Given the description of an element on the screen output the (x, y) to click on. 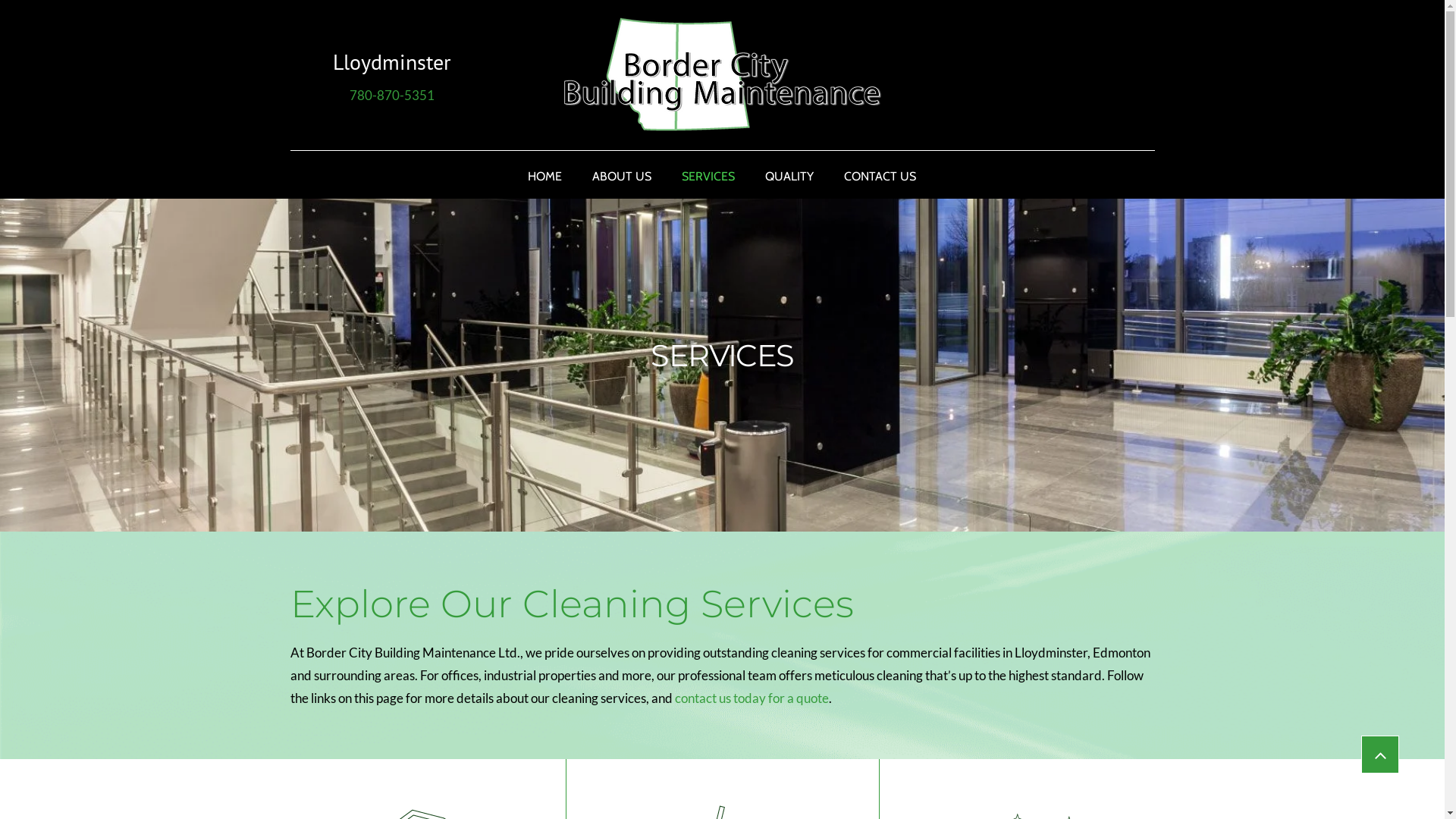
contact us today for a quote Element type: text (751, 700)
SERVICES Element type: text (707, 175)
780-870-5351 Element type: text (390, 97)
QUALITY Element type: text (788, 175)
CONTACT US Element type: text (879, 175)
ABOUT US Element type: text (621, 175)
HOME Element type: text (544, 175)
